Given the description of an element on the screen output the (x, y) to click on. 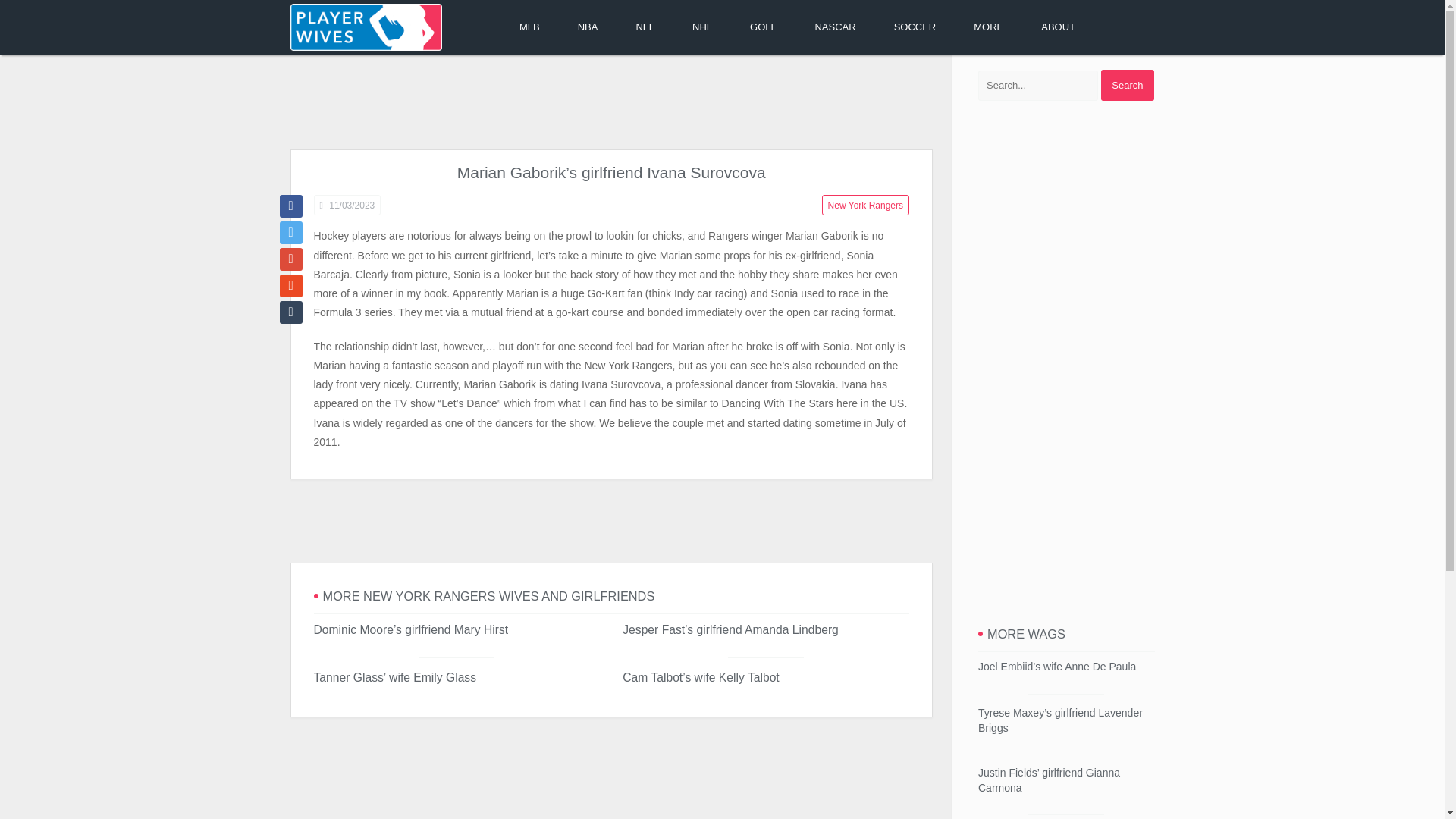
More Wives (988, 27)
NBA Wives (588, 27)
NBA (588, 27)
SOCCER (915, 27)
search (1127, 84)
New York Rangers (865, 204)
NFL (643, 27)
search (1127, 84)
MLB Wives (529, 27)
Soccer Wives (915, 27)
NASCAR (834, 27)
Twitter (290, 232)
About PlayerWives.com (1058, 27)
GOLF (762, 27)
MORE (988, 27)
